Given the description of an element on the screen output the (x, y) to click on. 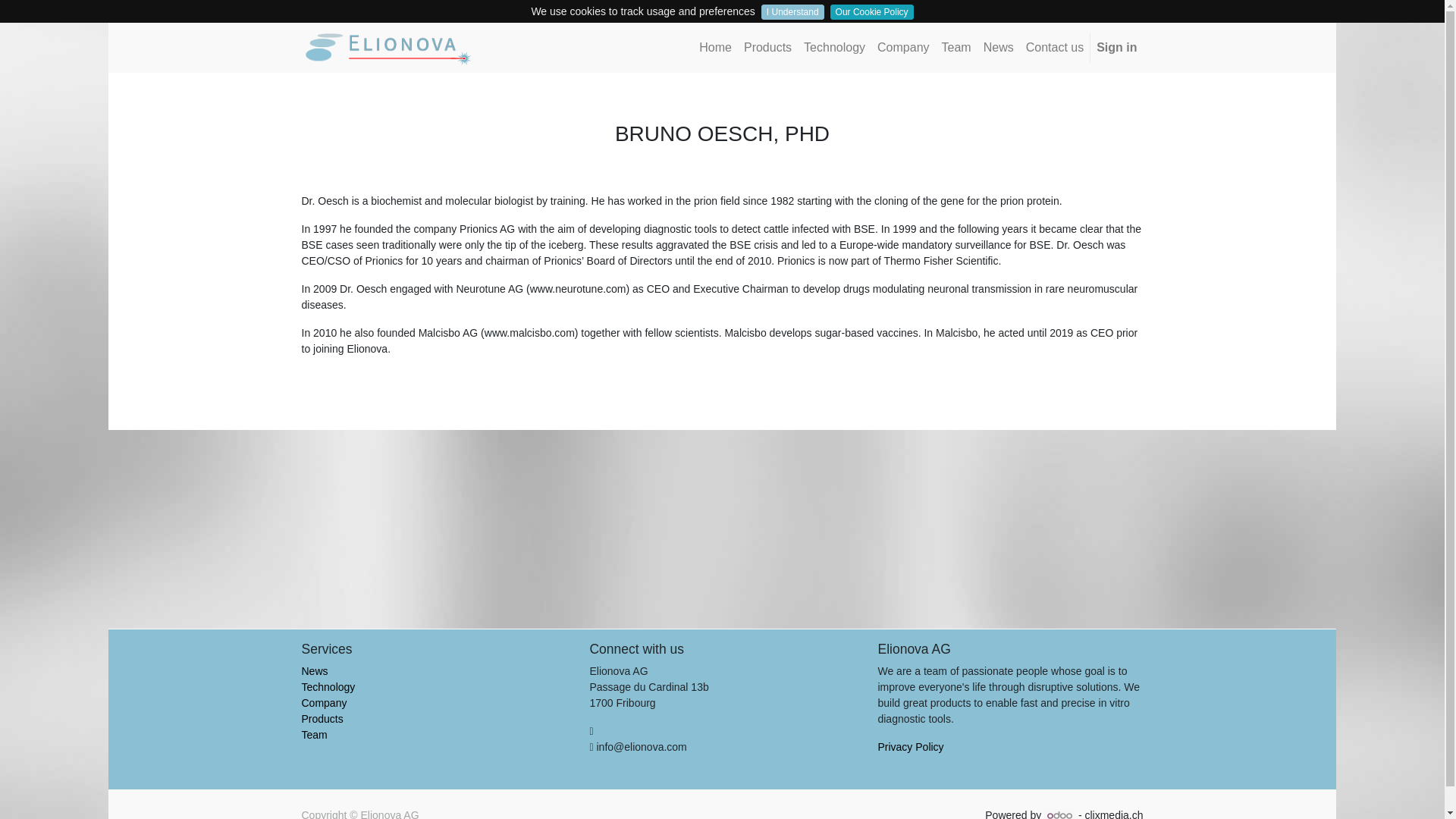
Home (715, 47)
I Understand (792, 11)
Products (322, 718)
Company (324, 702)
elionova.com (389, 47)
Our Cookie Policy (871, 11)
Team (314, 734)
News (998, 47)
News (315, 671)
Contact us (1054, 47)
Team (956, 47)
Technology (328, 686)
Company (902, 47)
Sign in (1116, 47)
Technology (833, 47)
